Given the description of an element on the screen output the (x, y) to click on. 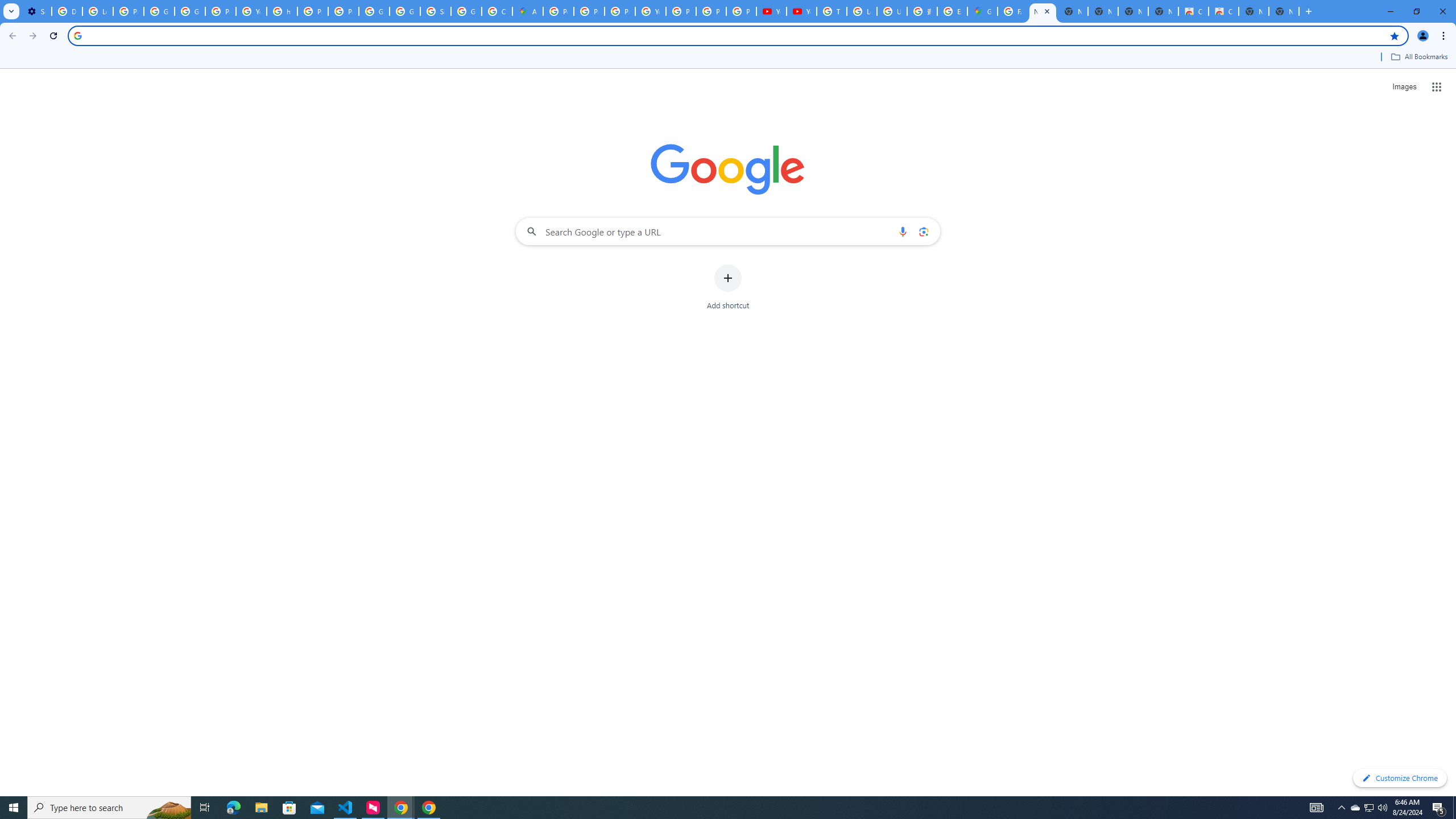
Explore new street-level details - Google Maps Help (951, 11)
Settings - On startup (36, 11)
YouTube (771, 11)
Delete photos & videos - Computer - Google Photos Help (66, 11)
Bookmarks (728, 58)
